Given the description of an element on the screen output the (x, y) to click on. 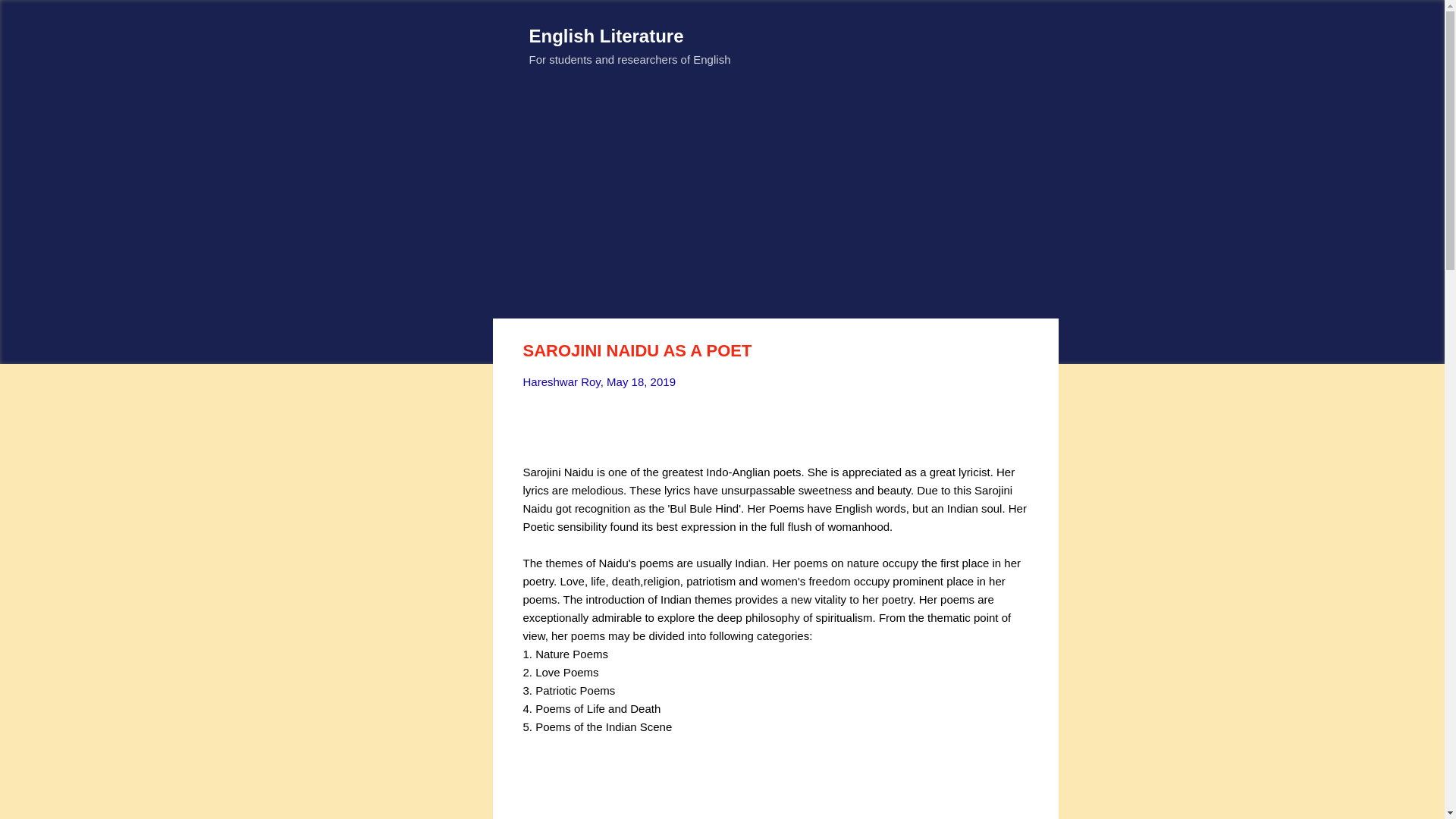
May 18, 2019 (641, 381)
English Literature (606, 35)
permanent link (641, 381)
Search (29, 18)
